Given the description of an element on the screen output the (x, y) to click on. 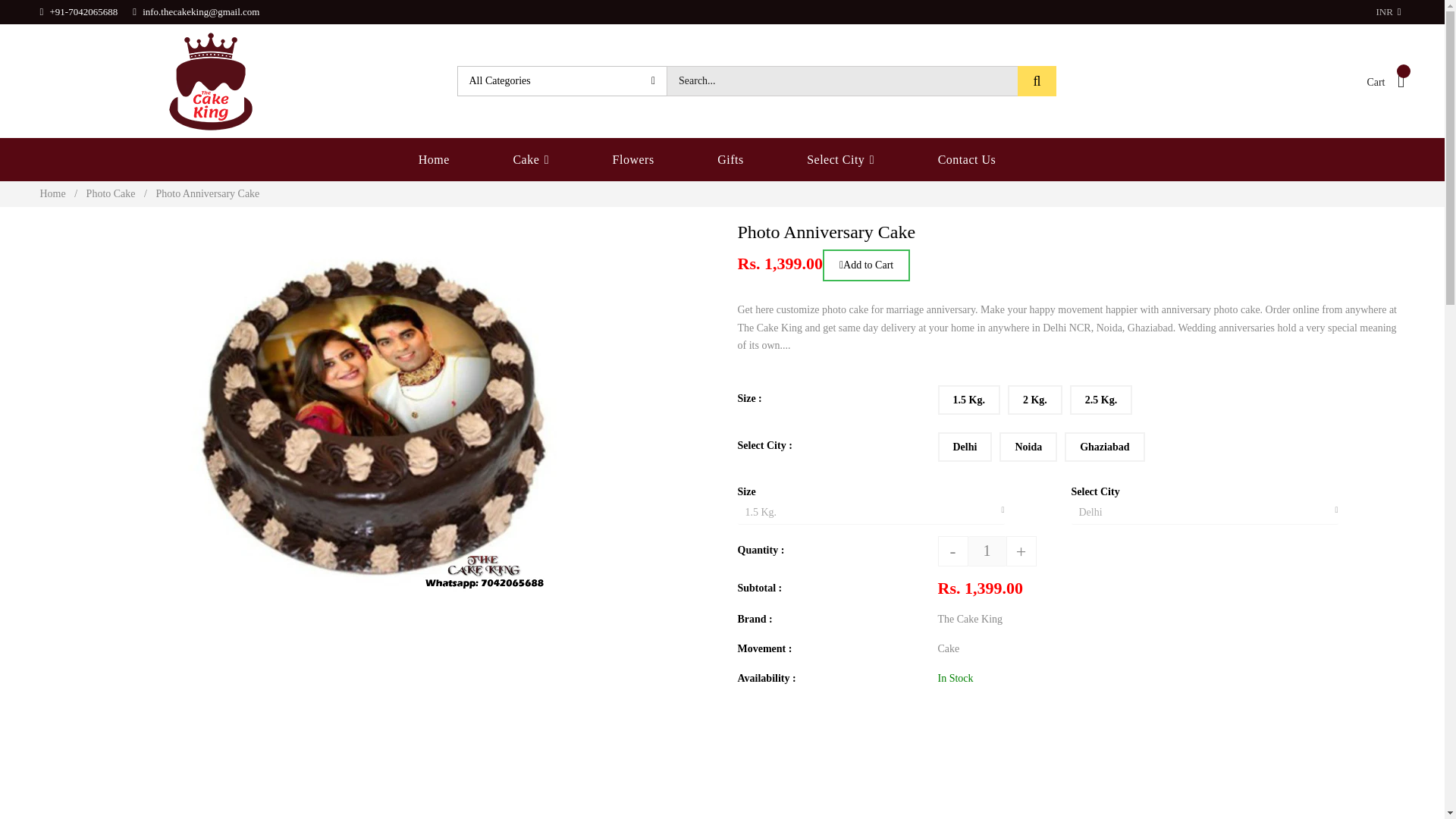
1 (987, 551)
Contact Us (966, 159)
Back to the frontpage (53, 193)
Gifts (730, 159)
Home (449, 159)
Cart (1386, 80)
Cake (530, 159)
Home (53, 193)
Flowers (633, 159)
Select City (840, 159)
